Given the description of an element on the screen output the (x, y) to click on. 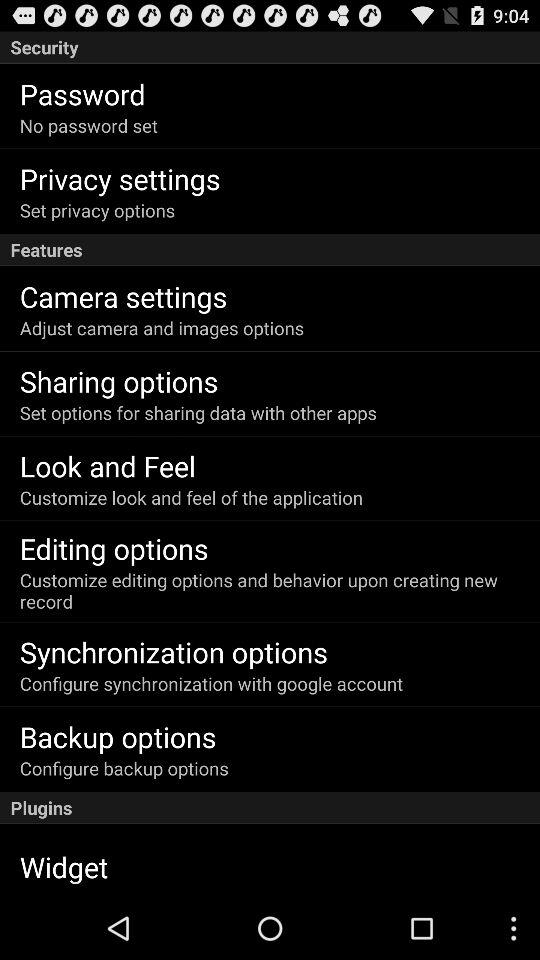
turn off the camera settings item (123, 296)
